Given the description of an element on the screen output the (x, y) to click on. 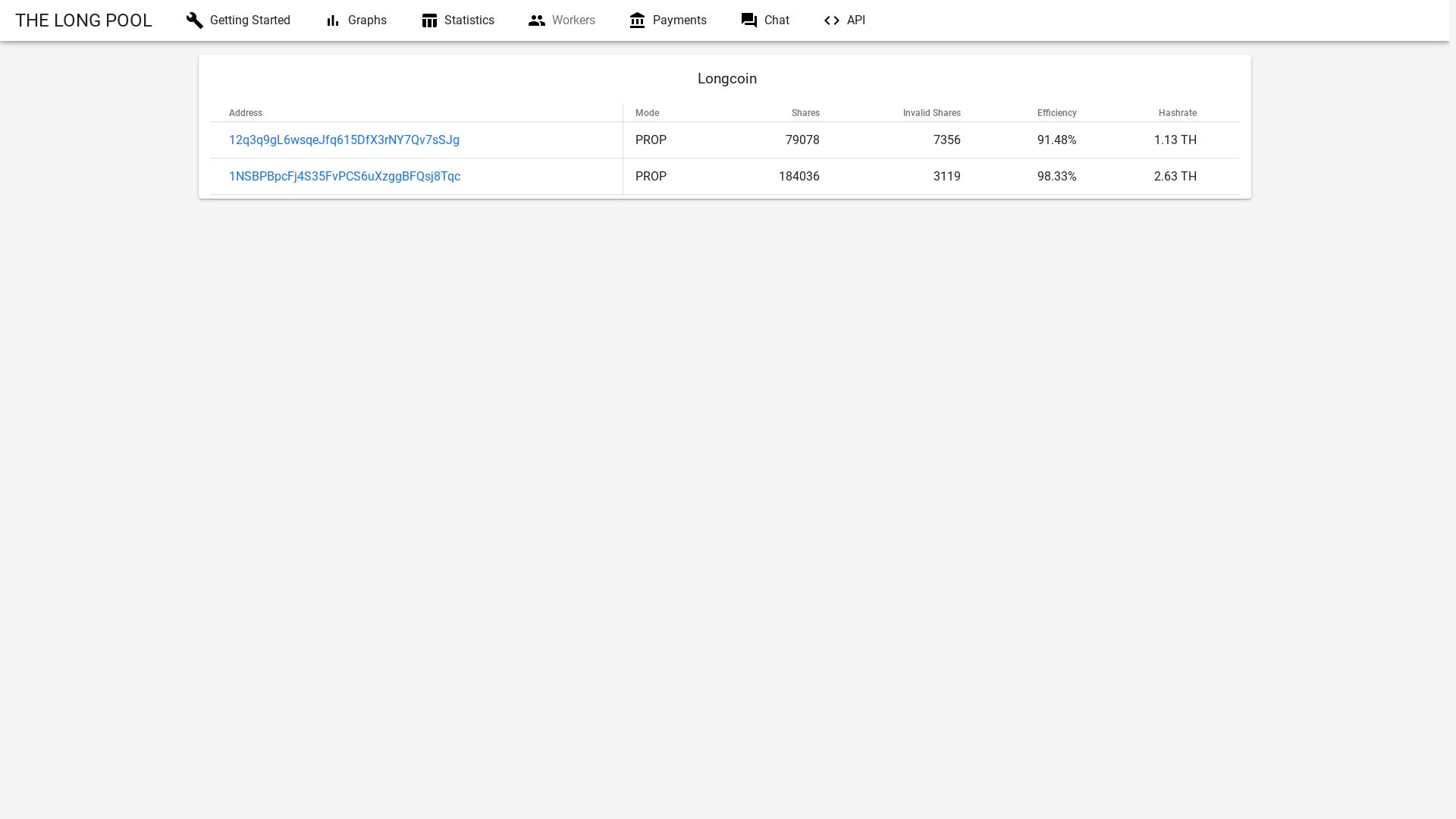
  Statistics Element type: text (457, 20)
  Graphs Element type: text (354, 20)
  Chat Element type: text (764, 20)
  API Element type: text (843, 20)
1NSBPBpcFj4S35FvPCS6uXzggBFQsj8Tqc Element type: text (344, 176)
  Workers Element type: text (561, 20)
  Getting Started Element type: text (237, 20)
12q3q9gL6wsqeJfq615DfX3rNY7Qv7sSJg Element type: text (344, 139)
  Payments Element type: text (667, 20)
THE LONG POOL Element type: text (83, 20)
